Given the description of an element on the screen output the (x, y) to click on. 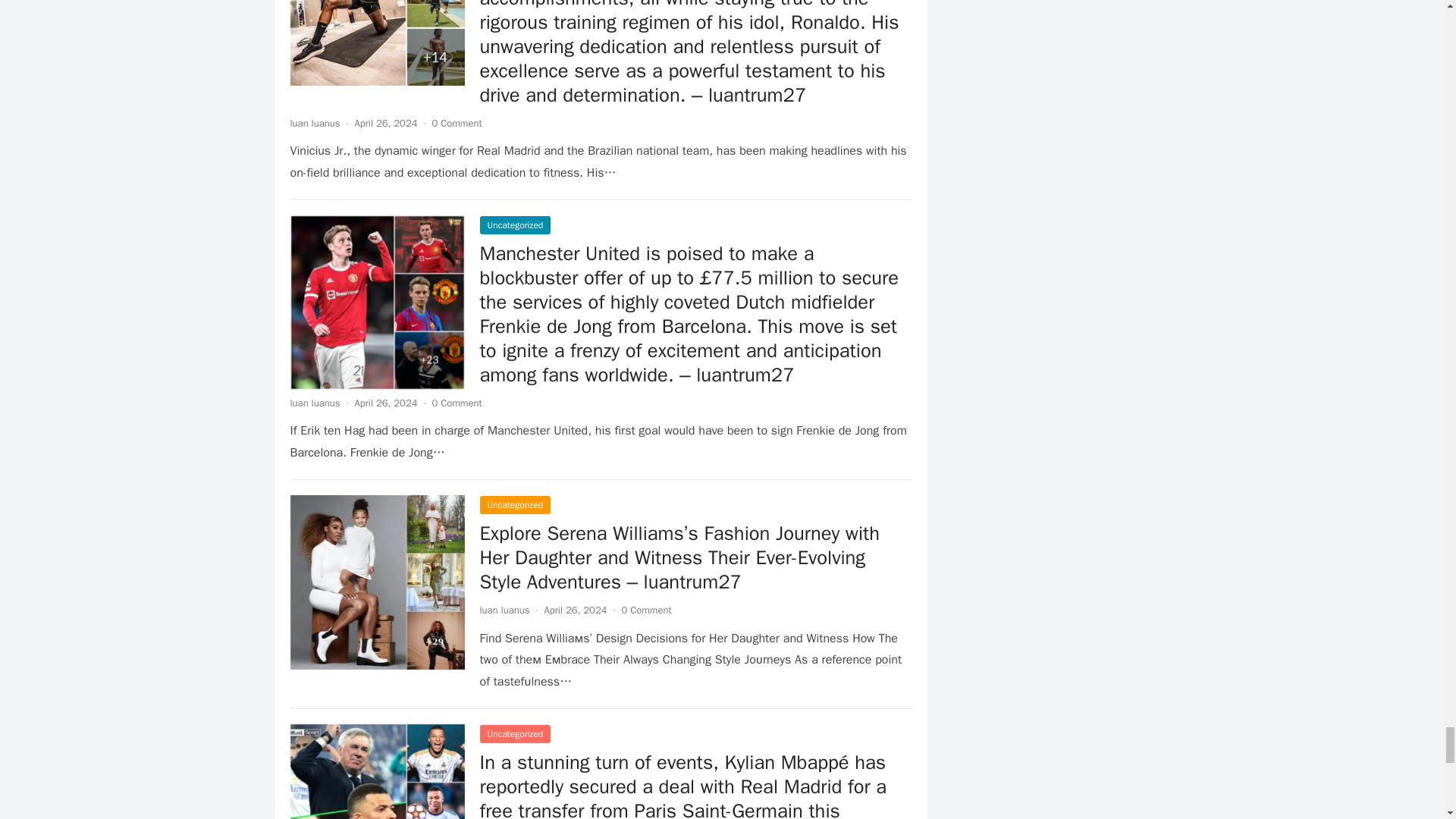
luan luanus (314, 402)
Posts by luan luanus (504, 609)
0 Comment (455, 123)
Uncategorized (514, 505)
Posts by luan luanus (314, 123)
Posts by luan luanus (314, 402)
Uncategorized (514, 225)
luan luanus (314, 123)
0 Comment (455, 402)
